Given the description of an element on the screen output the (x, y) to click on. 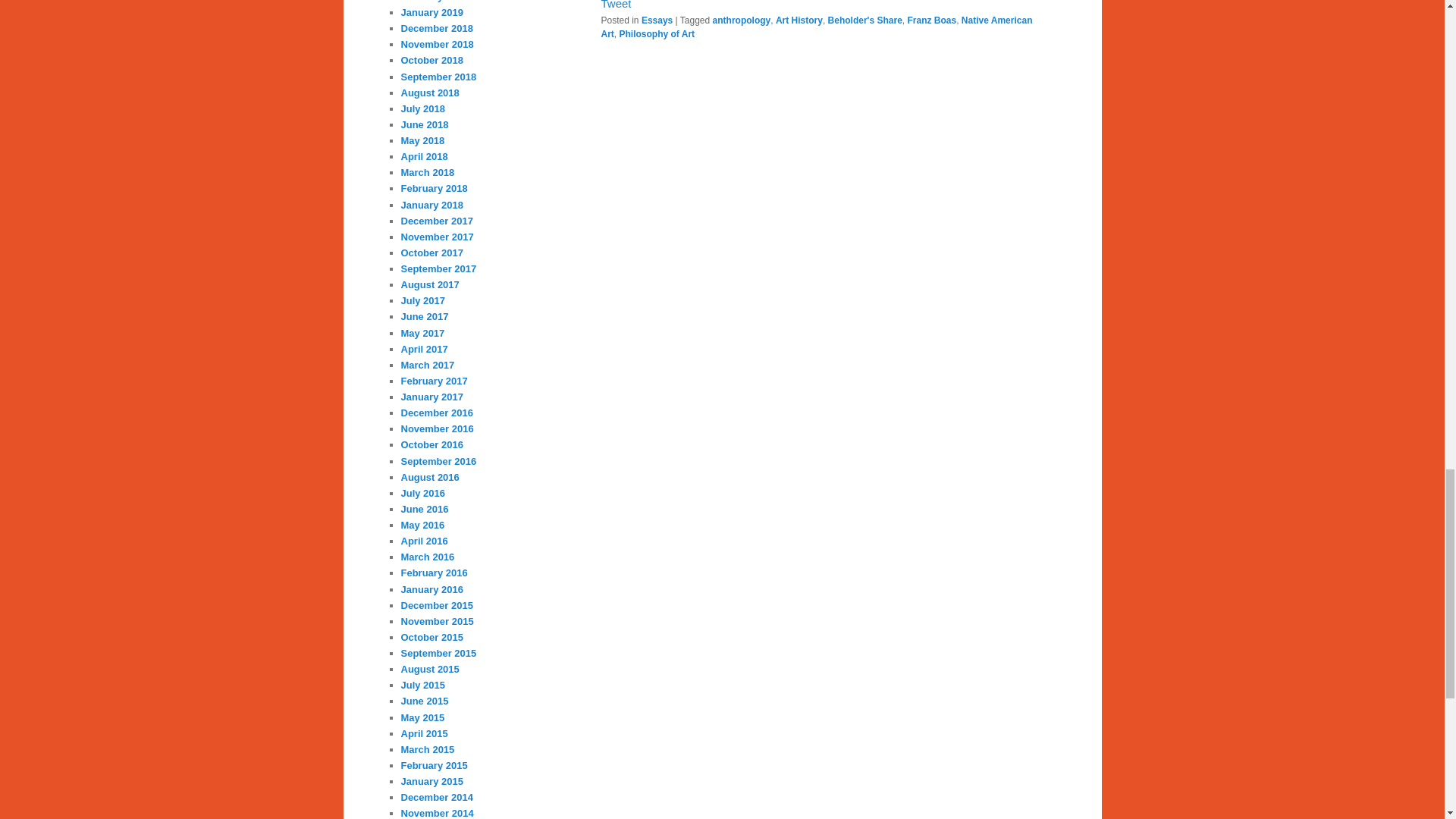
anthropology (742, 20)
Essays (657, 20)
Native American Art (815, 27)
Beholder's Share (865, 20)
Franz Boas (931, 20)
Tweet (614, 4)
Art History (799, 20)
Philosophy of Art (657, 33)
